Given the description of an element on the screen output the (x, y) to click on. 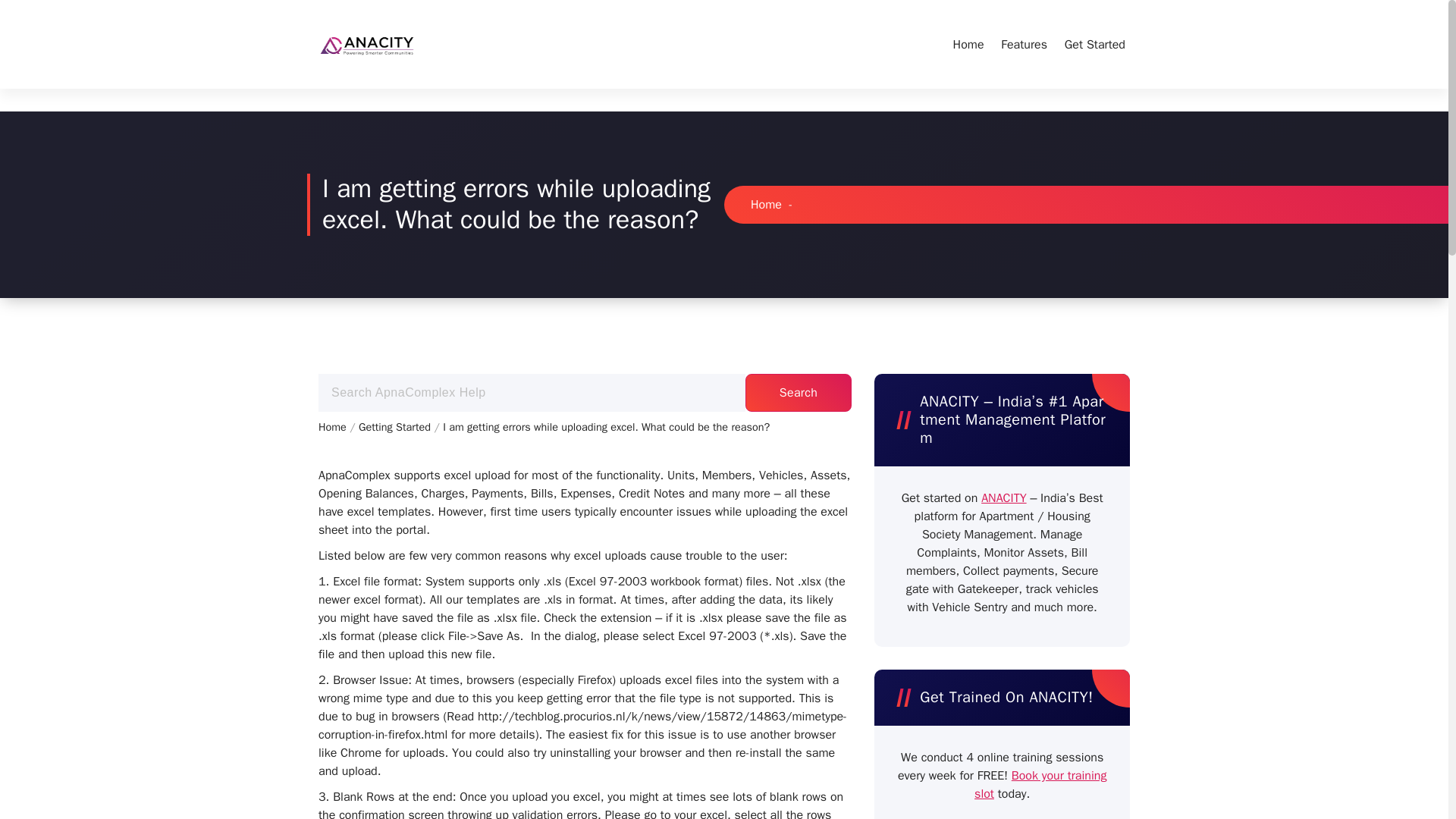
Home (967, 44)
Search (798, 392)
Home (766, 204)
Features (1024, 44)
Book your training slot (1040, 784)
ANACITY (1003, 498)
View all posts in Getting Started (395, 427)
Home (333, 427)
Home (967, 44)
Getting Started (395, 427)
Get Started (1094, 44)
Features (1024, 44)
Home (333, 427)
Get Started (1094, 44)
